Given the description of an element on the screen output the (x, y) to click on. 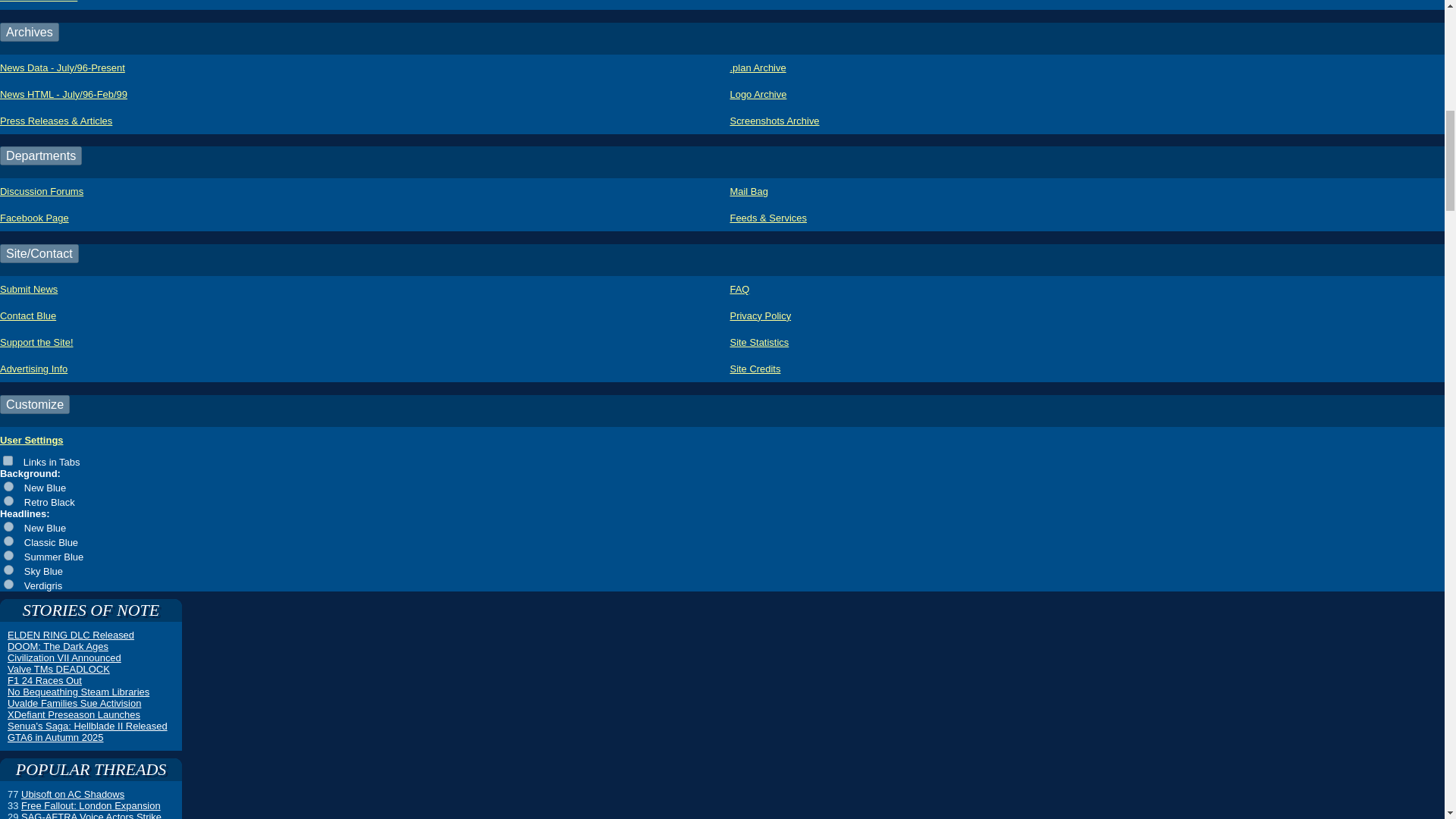
sky (8, 569)
summer (8, 555)
default (8, 526)
classic (8, 541)
on (7, 460)
default (8, 486)
verdigris (8, 583)
retro (8, 501)
